Given the description of an element on the screen output the (x, y) to click on. 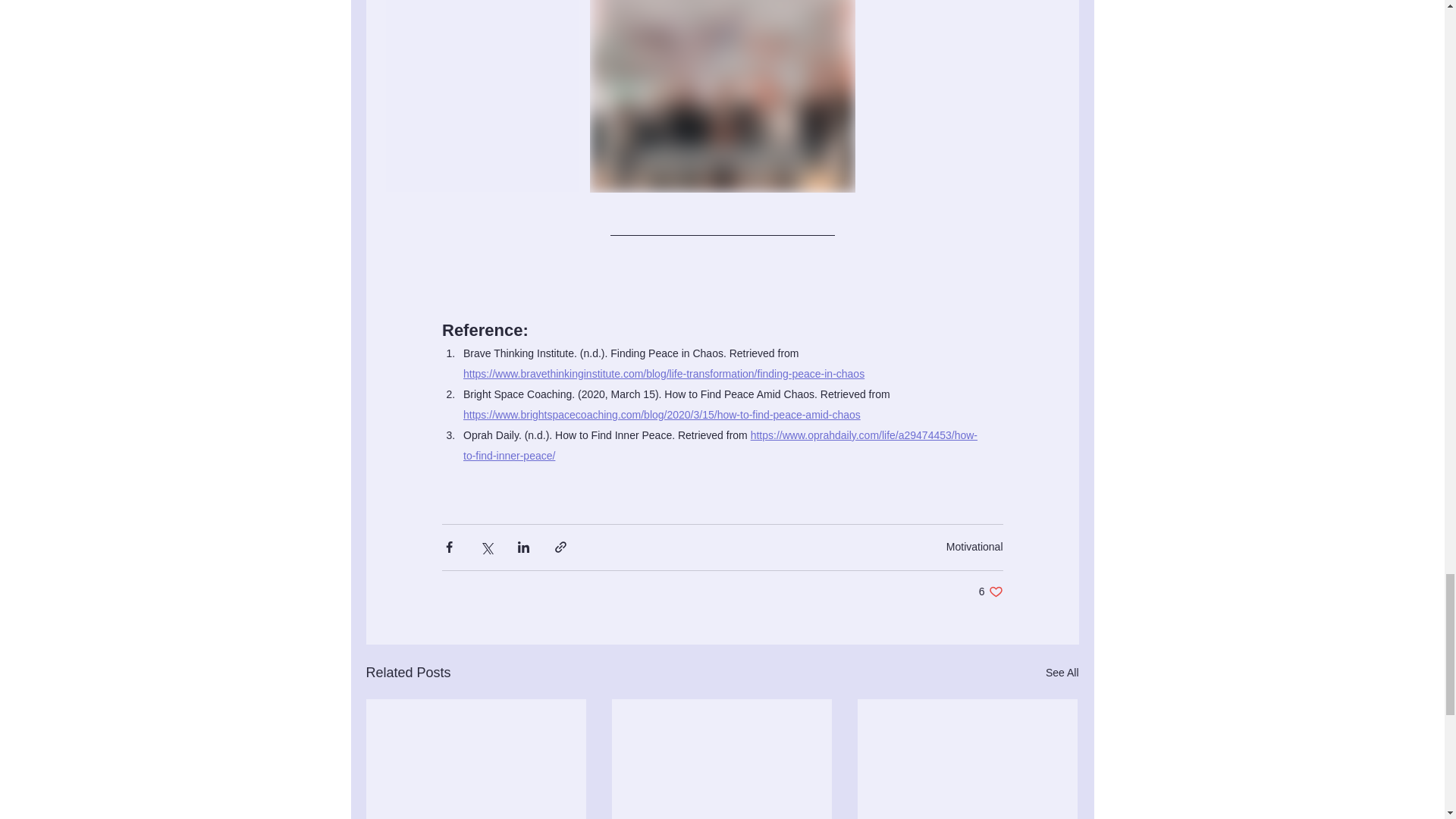
Motivational (974, 546)
See All (1061, 672)
